Given the description of an element on the screen output the (x, y) to click on. 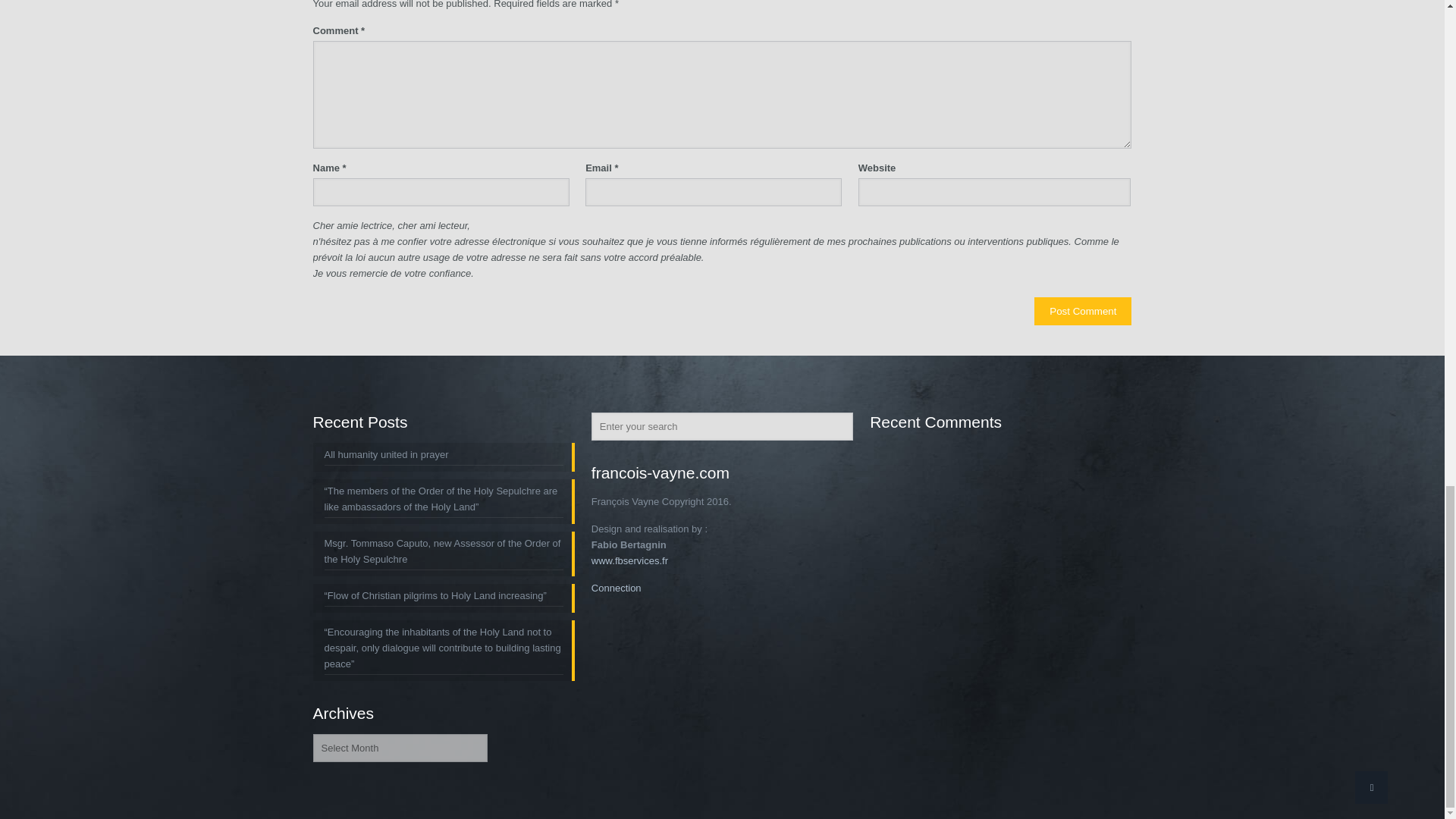
Post Comment (1082, 311)
Post Comment (1082, 311)
All humanity united in prayer (443, 456)
www.fbservices.fr (629, 560)
Connection (616, 587)
